Given the description of an element on the screen output the (x, y) to click on. 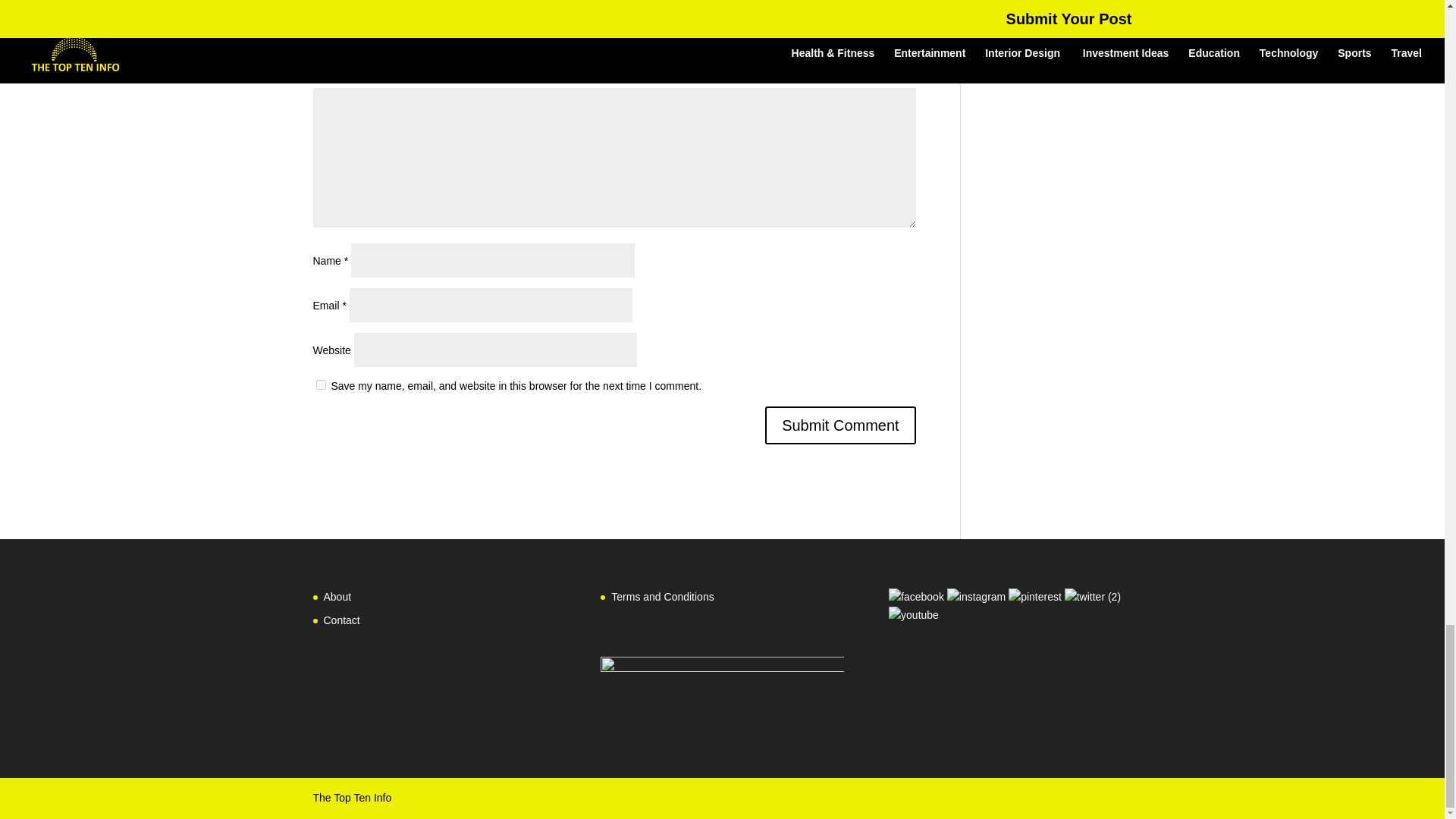
Submit Comment (840, 425)
Submit Comment (840, 425)
yes (319, 384)
